Given the description of an element on the screen output the (x, y) to click on. 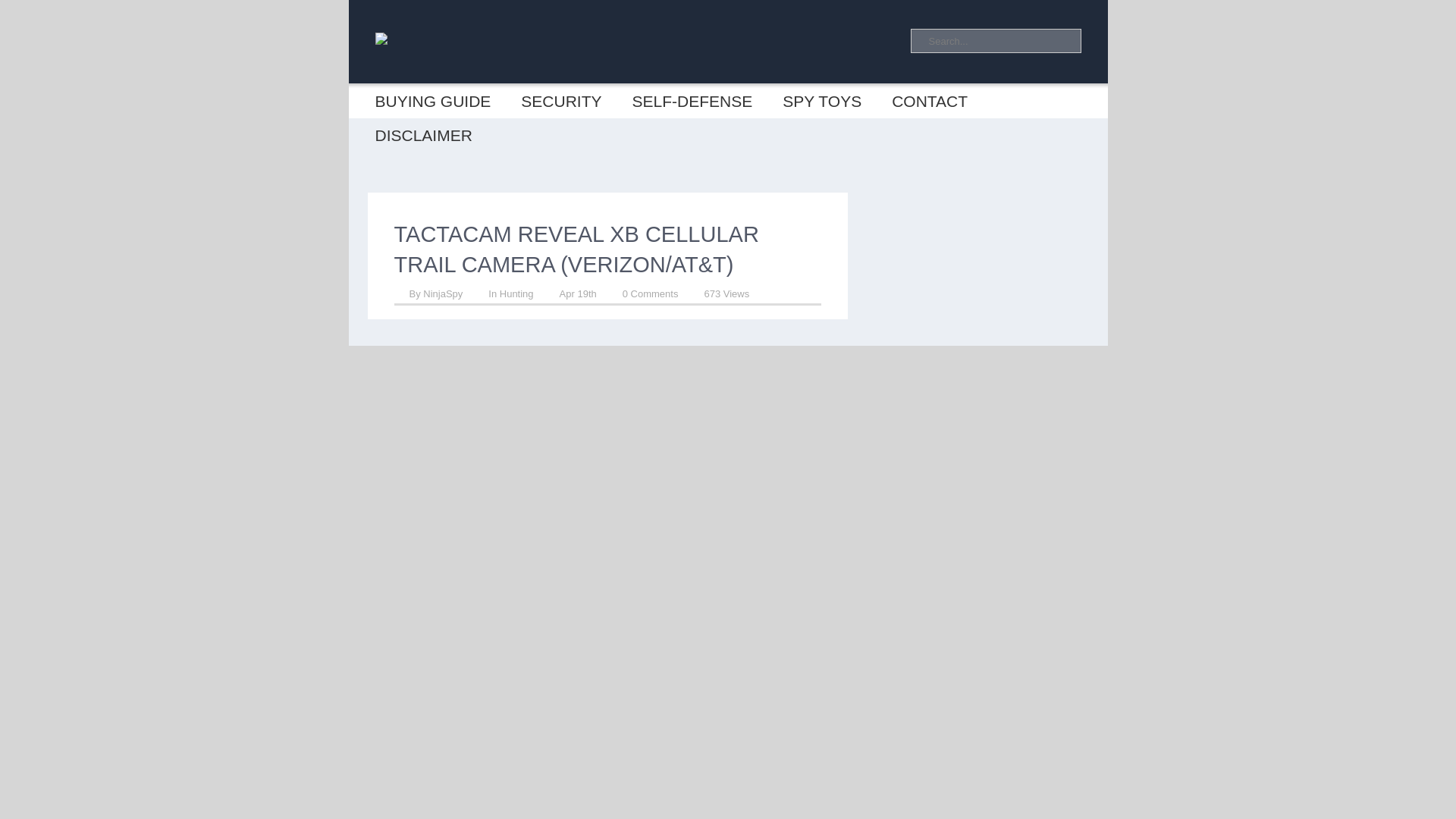
DISCLAIMER (422, 134)
BUYING GUIDE (432, 100)
SECURITY (560, 100)
